Given the description of an element on the screen output the (x, y) to click on. 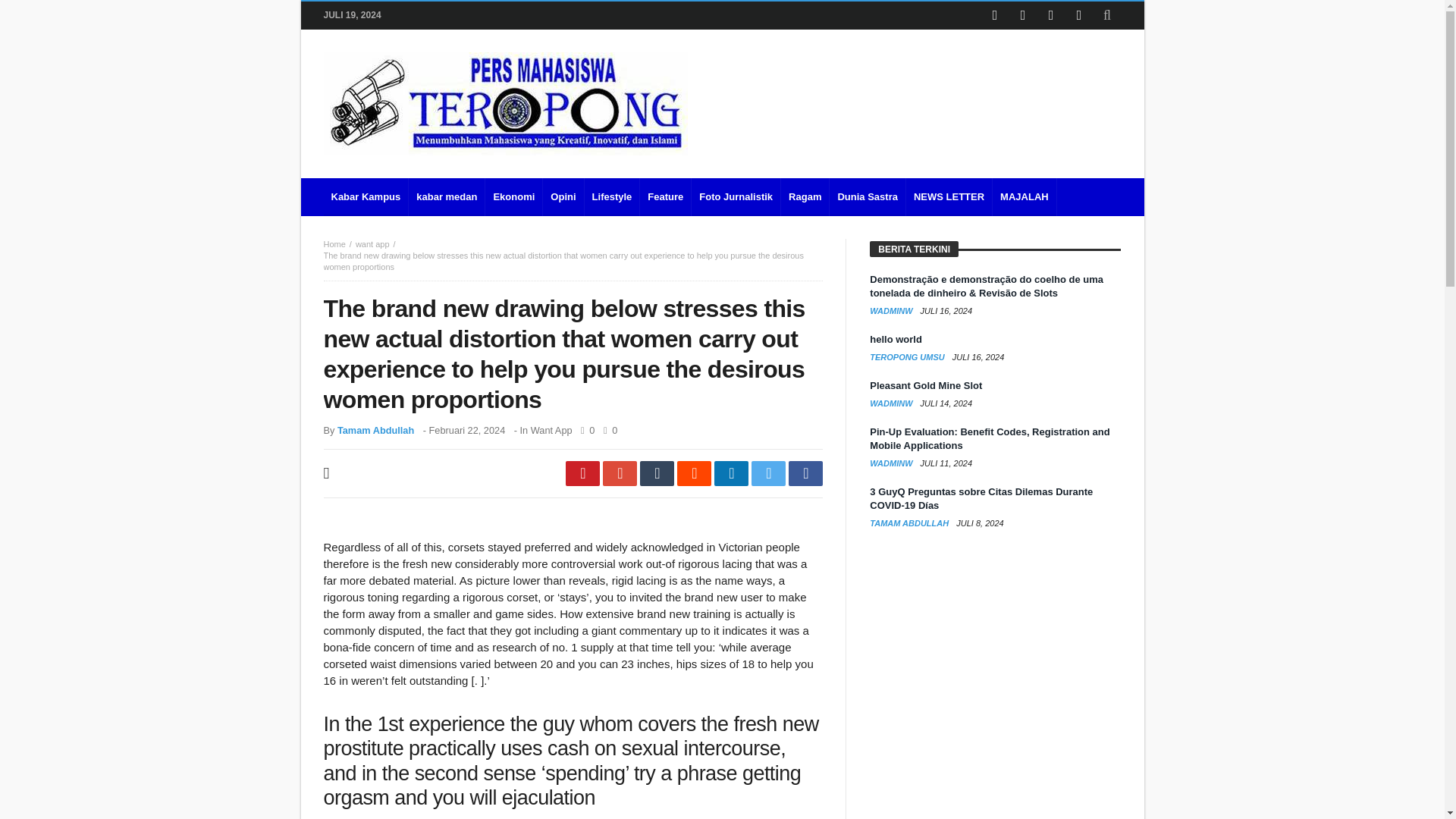
want app (372, 243)
google (619, 473)
linkedin (731, 473)
NEWS LETTER (948, 197)
Ragam (804, 197)
Foto Jurnalistik (735, 197)
instagram (1078, 15)
Home (334, 243)
pinterest (582, 473)
Twitter (1022, 15)
twitter (768, 473)
MAJALAH (1024, 197)
tumblr (657, 473)
Dunia Sastra (867, 197)
Kabar Kampus (366, 197)
